Given the description of an element on the screen output the (x, y) to click on. 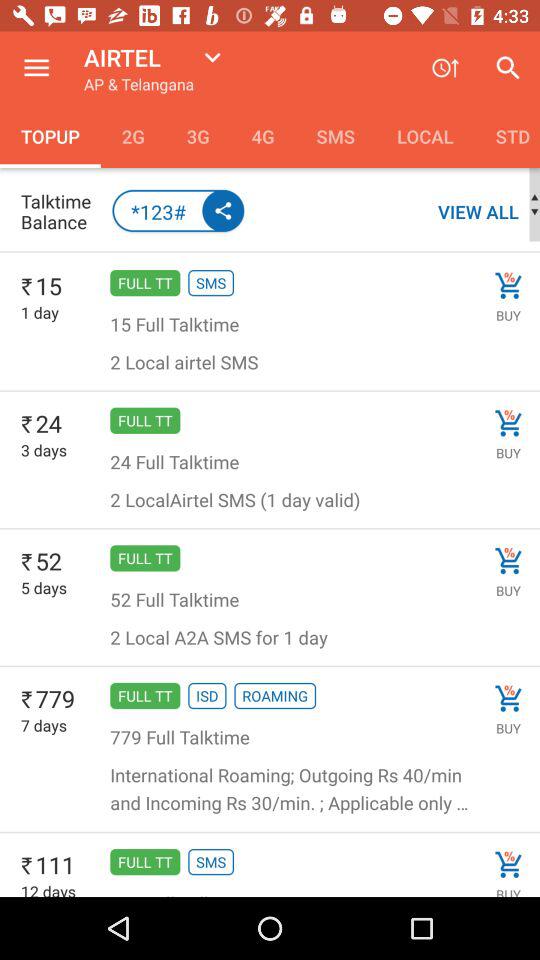
open icon below the 2 local a2a item (207, 695)
